Given the description of an element on the screen output the (x, y) to click on. 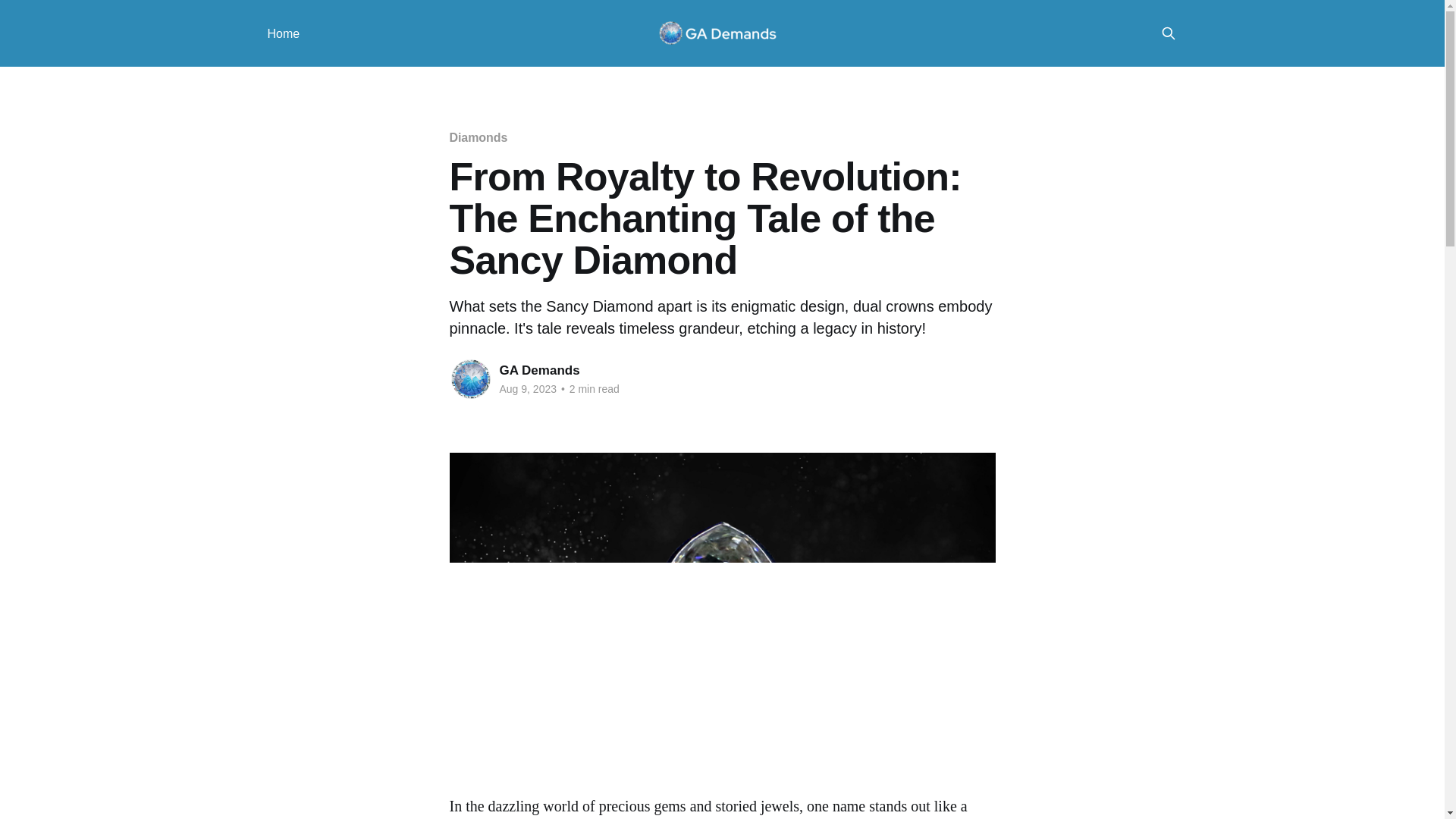
Home (282, 33)
GA Demands (539, 370)
Diamonds (477, 137)
